Given the description of an element on the screen output the (x, y) to click on. 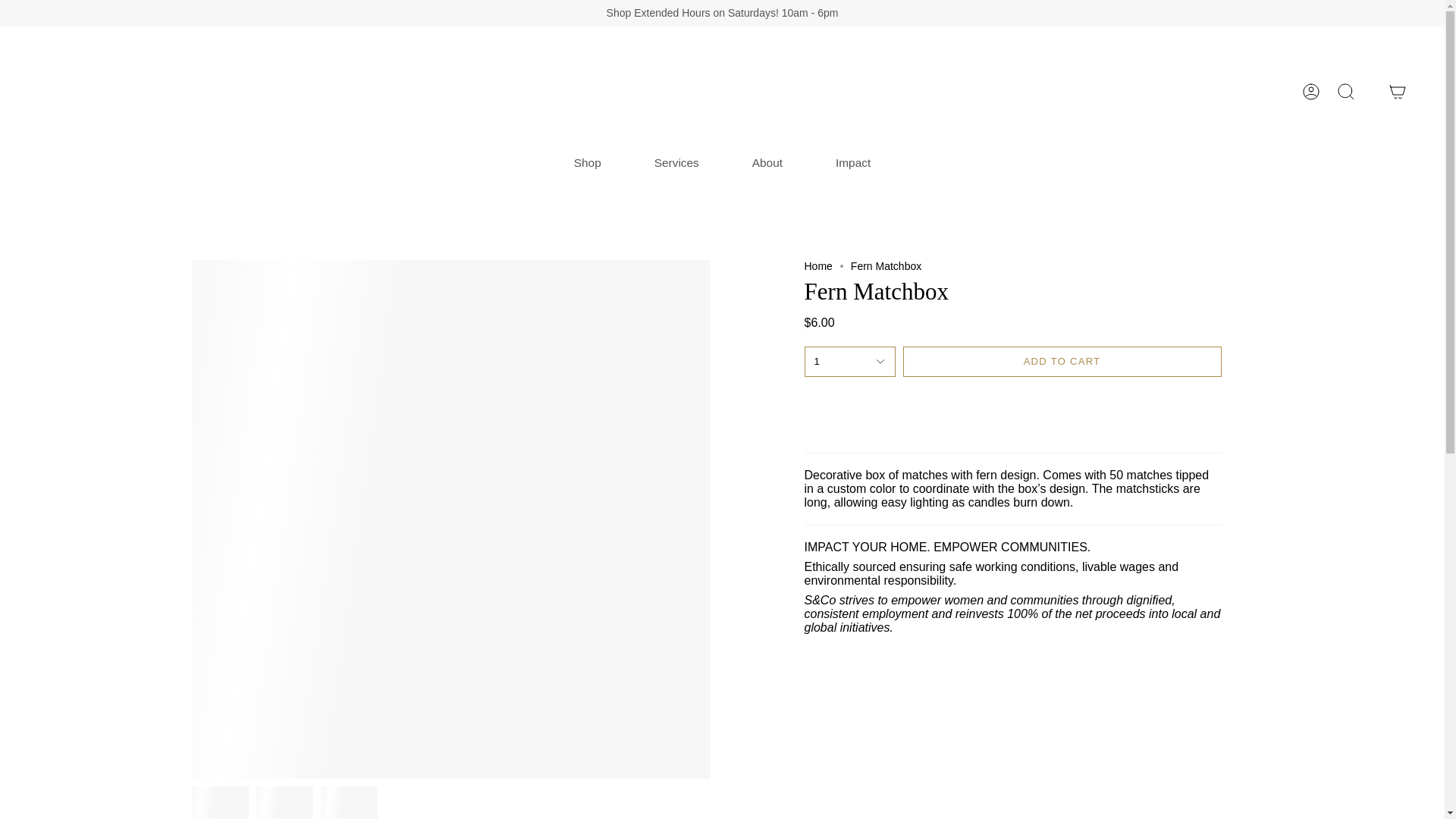
Search (1344, 91)
Account (1310, 91)
Shop (587, 162)
Cart (1397, 91)
My Account (1310, 91)
Services (676, 162)
Cart (1397, 91)
